Given the description of an element on the screen output the (x, y) to click on. 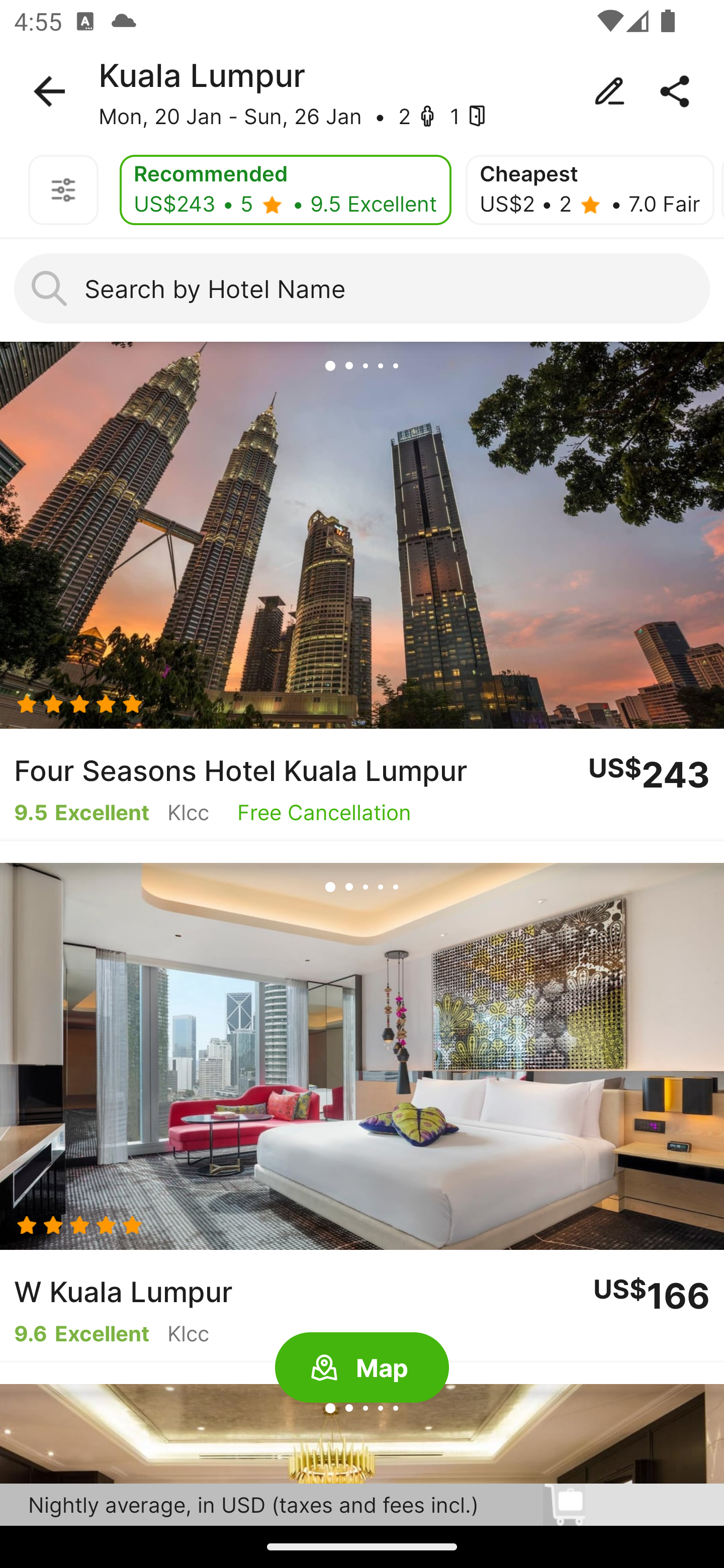
Recommended  US$243  • 5 - • 9.5 Excellent (285, 190)
Cheapest US$2  • 2 - • 7.0 Fair (589, 190)
Search by Hotel Name  (361, 288)
10.0 W Kuala Lumpur 9.6 Excellent Klcc (362, 1112)
Map  (361, 1367)
